Given the description of an element on the screen output the (x, y) to click on. 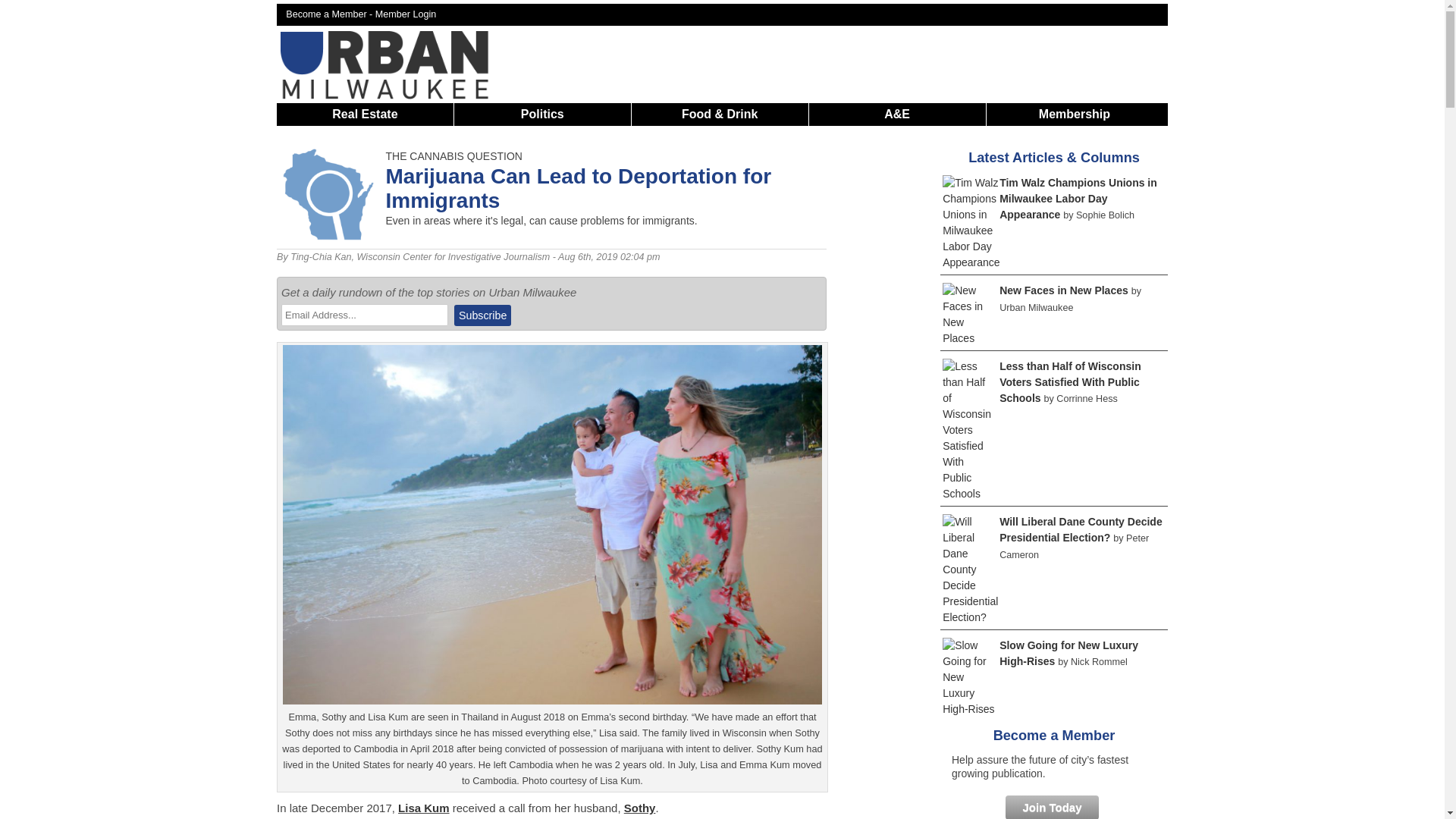
Become a Member - (330, 14)
Politics (542, 113)
Real Estate (364, 113)
Subscribe (482, 314)
Ting-Chia Kan (319, 256)
Member Login (405, 14)
Subscribe (482, 314)
Wisconsin Center for Investigative Journalism (453, 256)
Posts by Ting-Chia Kan (319, 256)
Membership (1074, 113)
